Given the description of an element on the screen output the (x, y) to click on. 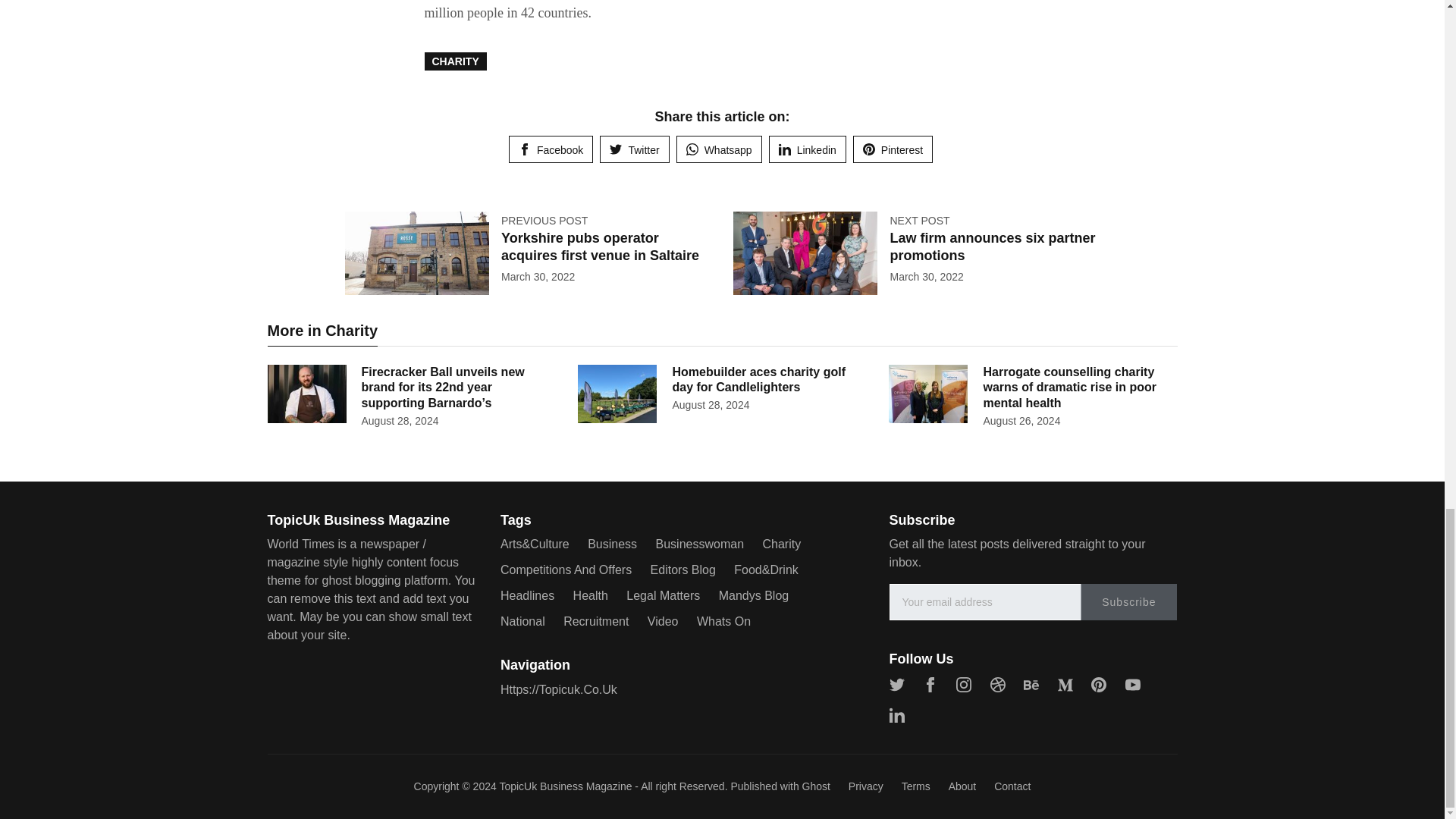
Share on Twitter (633, 148)
Pinterest (893, 148)
30 March, 2022 (537, 276)
Share on Whatsapp (719, 148)
Linkedin (806, 148)
26 August, 2024 (1020, 420)
Yorkshire pubs operator acquires first venue in Saltaire (599, 246)
30 March, 2022 (925, 276)
Share on Pinterest (893, 148)
28 August, 2024 (710, 404)
